Given the description of an element on the screen output the (x, y) to click on. 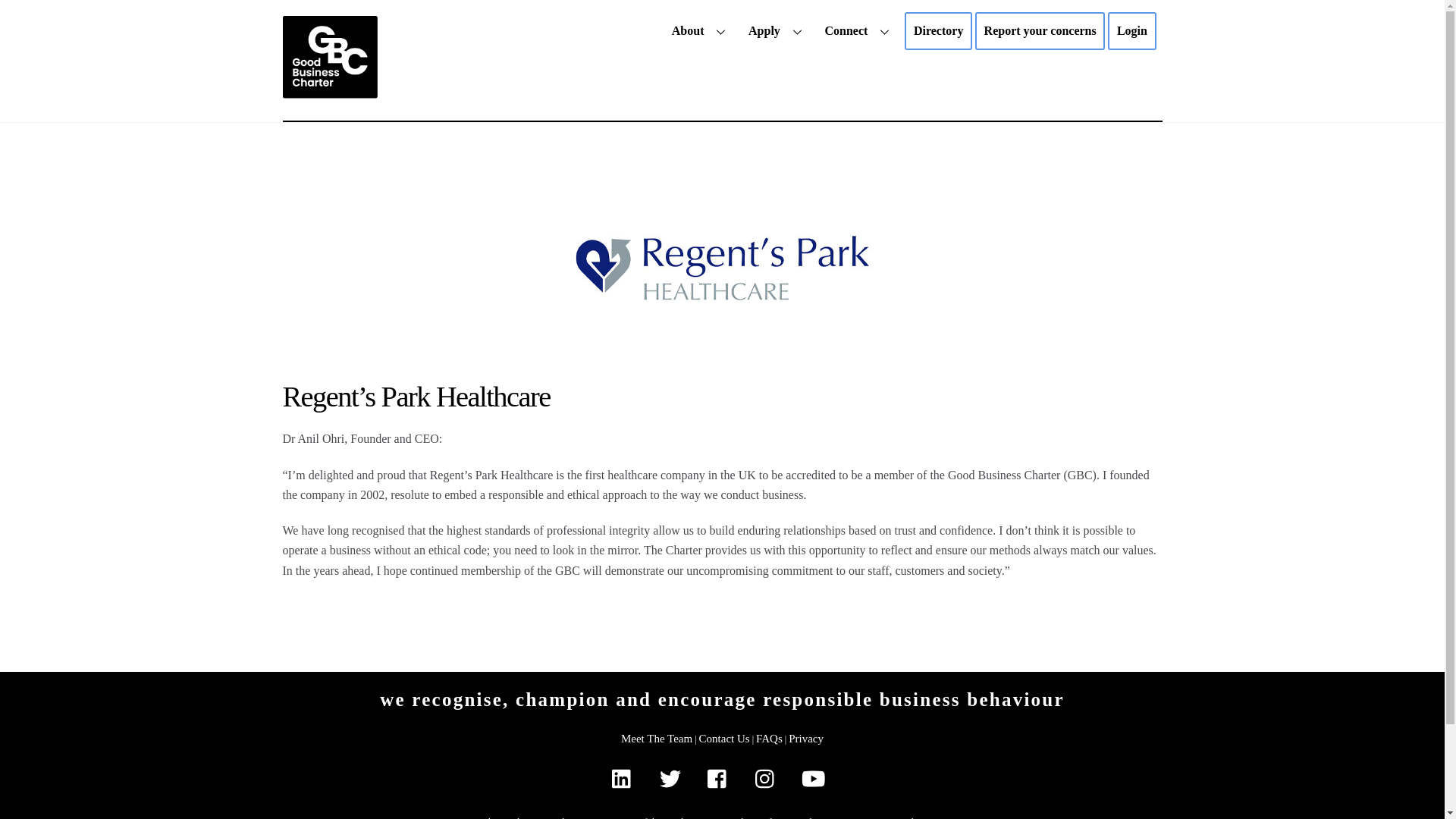
Meet The Team (657, 738)
Privacy (806, 738)
Directory (938, 30)
Report your concerns (1039, 30)
Connect (721, 30)
Login (858, 30)
Good Business Charter (1131, 30)
Regents-park-health (329, 91)
About (722, 268)
FAQs (700, 30)
Apply (769, 738)
Contact Us (777, 30)
